Given the description of an element on the screen output the (x, y) to click on. 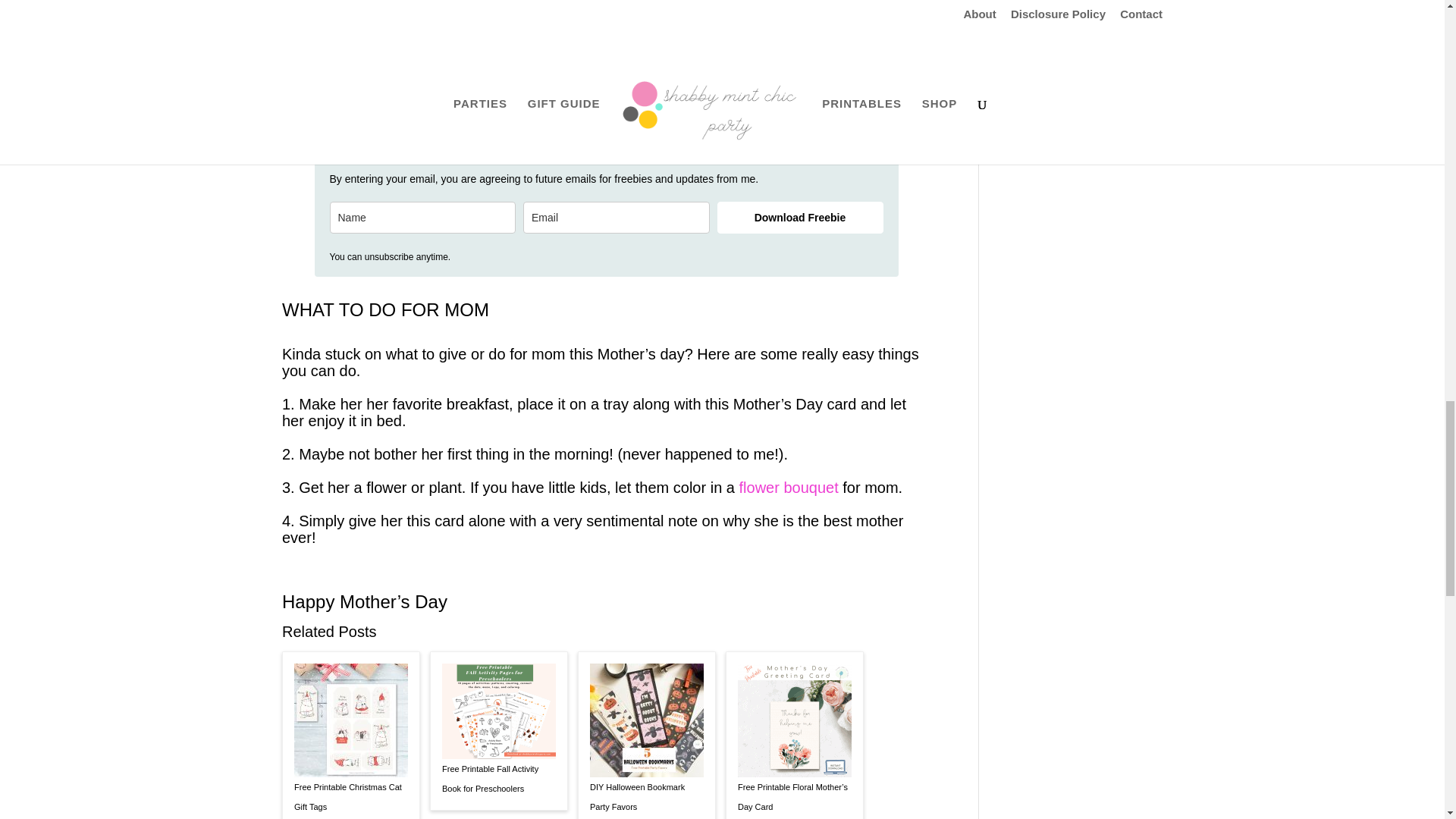
DIY Halloween Bookmark Party Favors (646, 796)
flower bouquet (788, 487)
Download Freebie (800, 217)
Free Printable Fall Activity Book for Preschoolers (499, 778)
Free Printable Christmas Cat Gift Tags (350, 796)
